Given the description of an element on the screen output the (x, y) to click on. 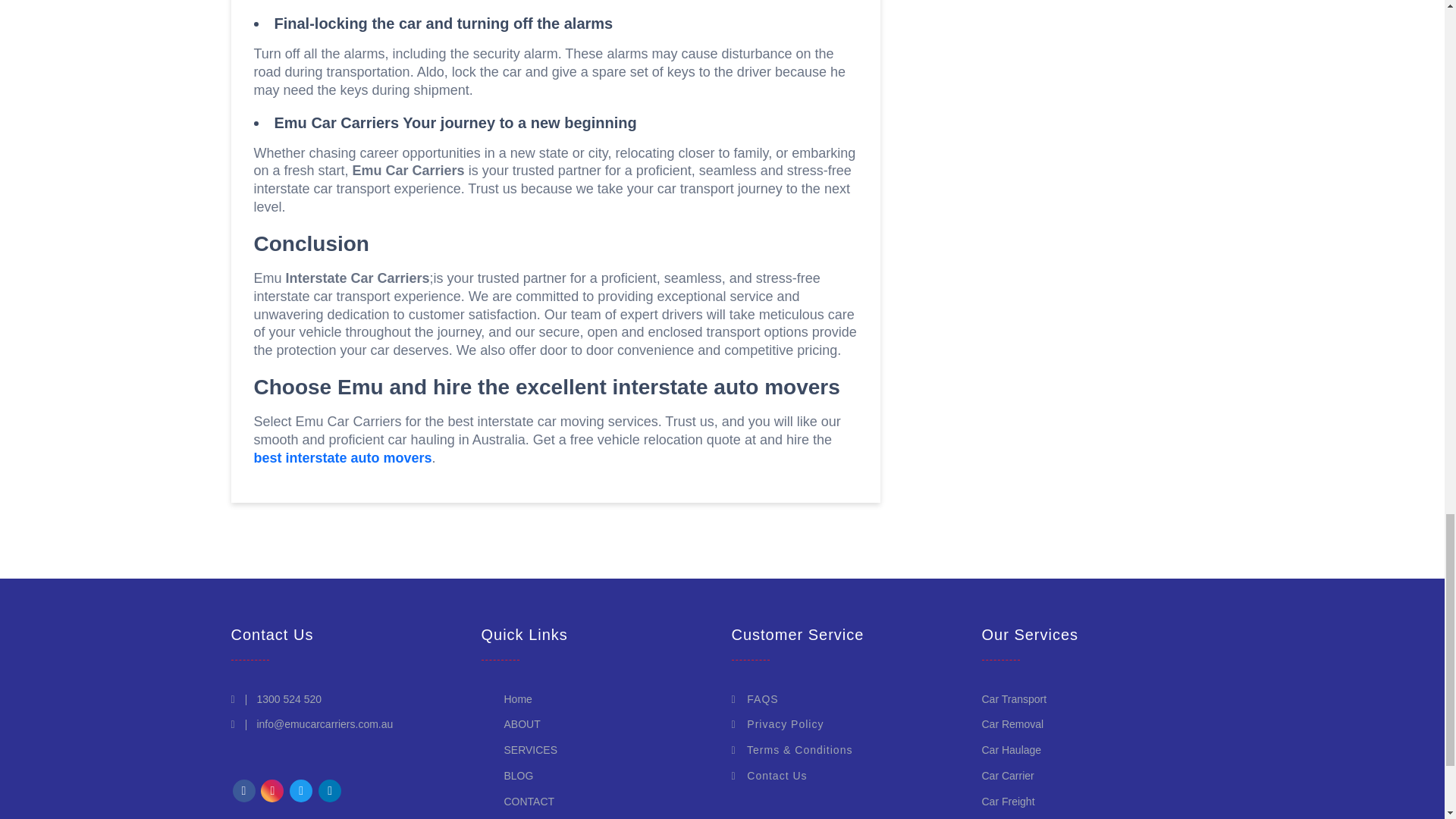
CONTACT (528, 801)
   FAQS (753, 698)
Home (517, 698)
best interstate auto movers (341, 458)
BLOG (517, 775)
ABOUT (521, 724)
1300 524 520 (288, 698)
SERVICES (530, 749)
